Given the description of an element on the screen output the (x, y) to click on. 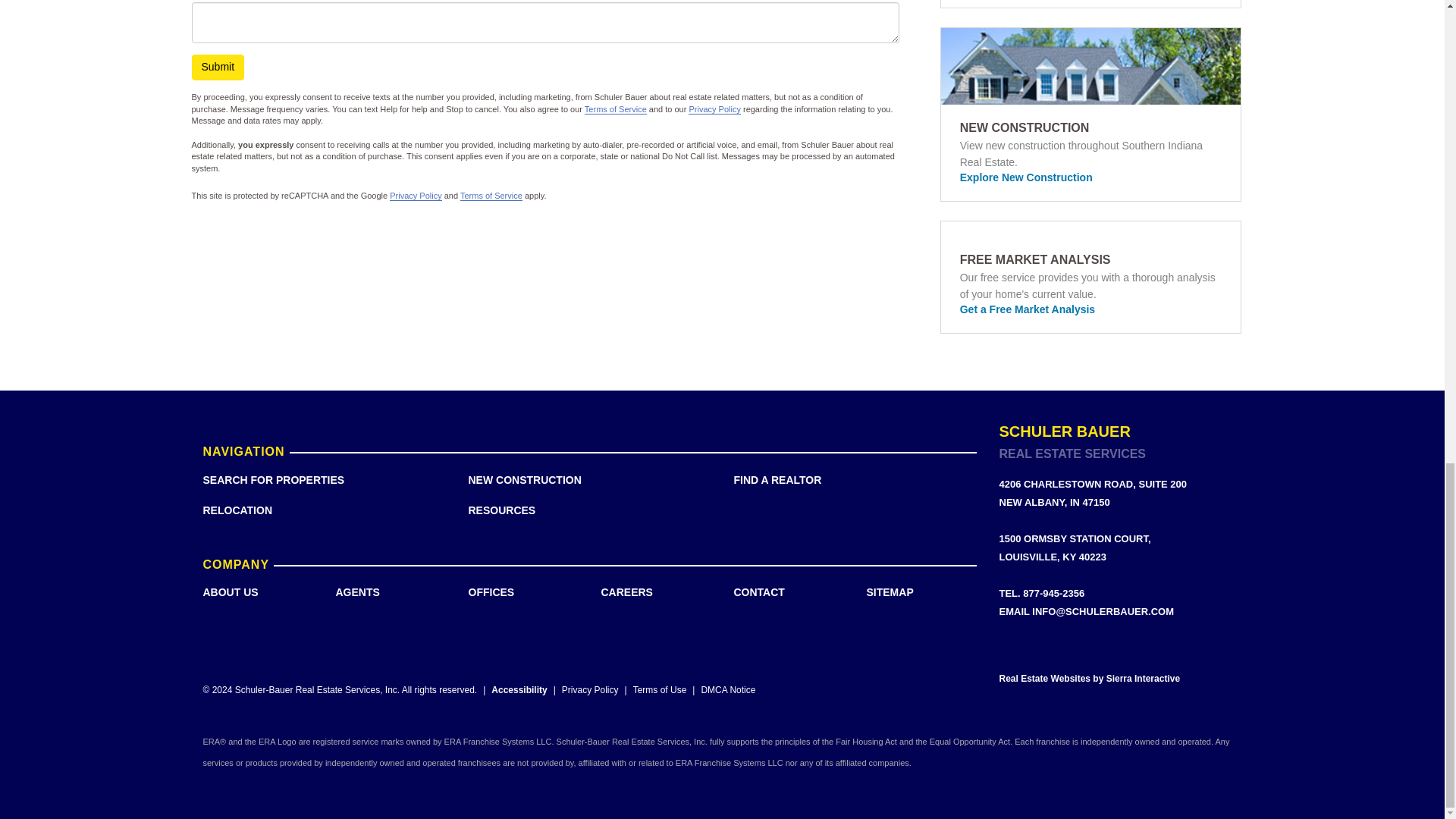
Please enter your question (544, 22)
